Given the description of an element on the screen output the (x, y) to click on. 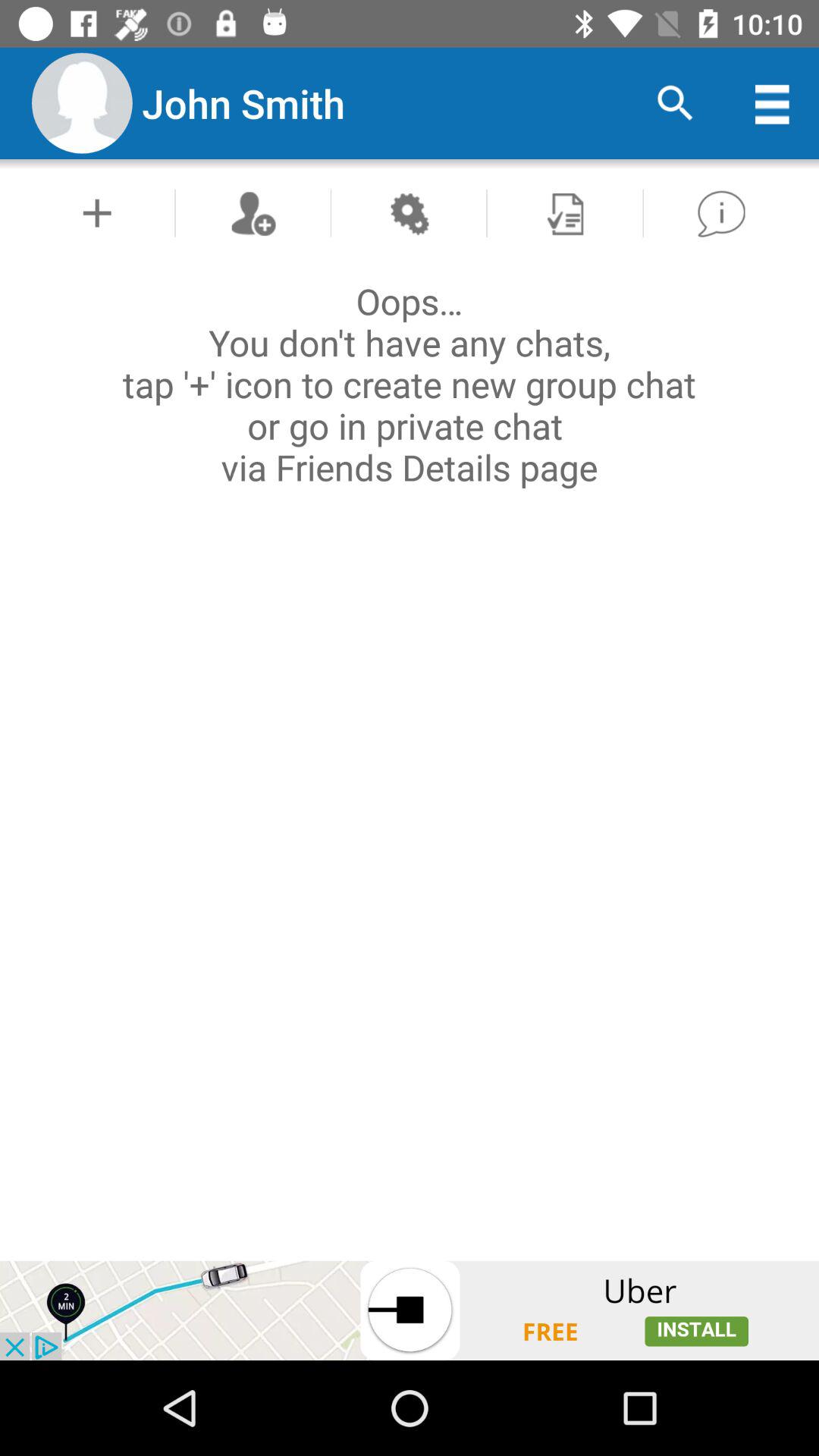
add friend button (252, 213)
